Given the description of an element on the screen output the (x, y) to click on. 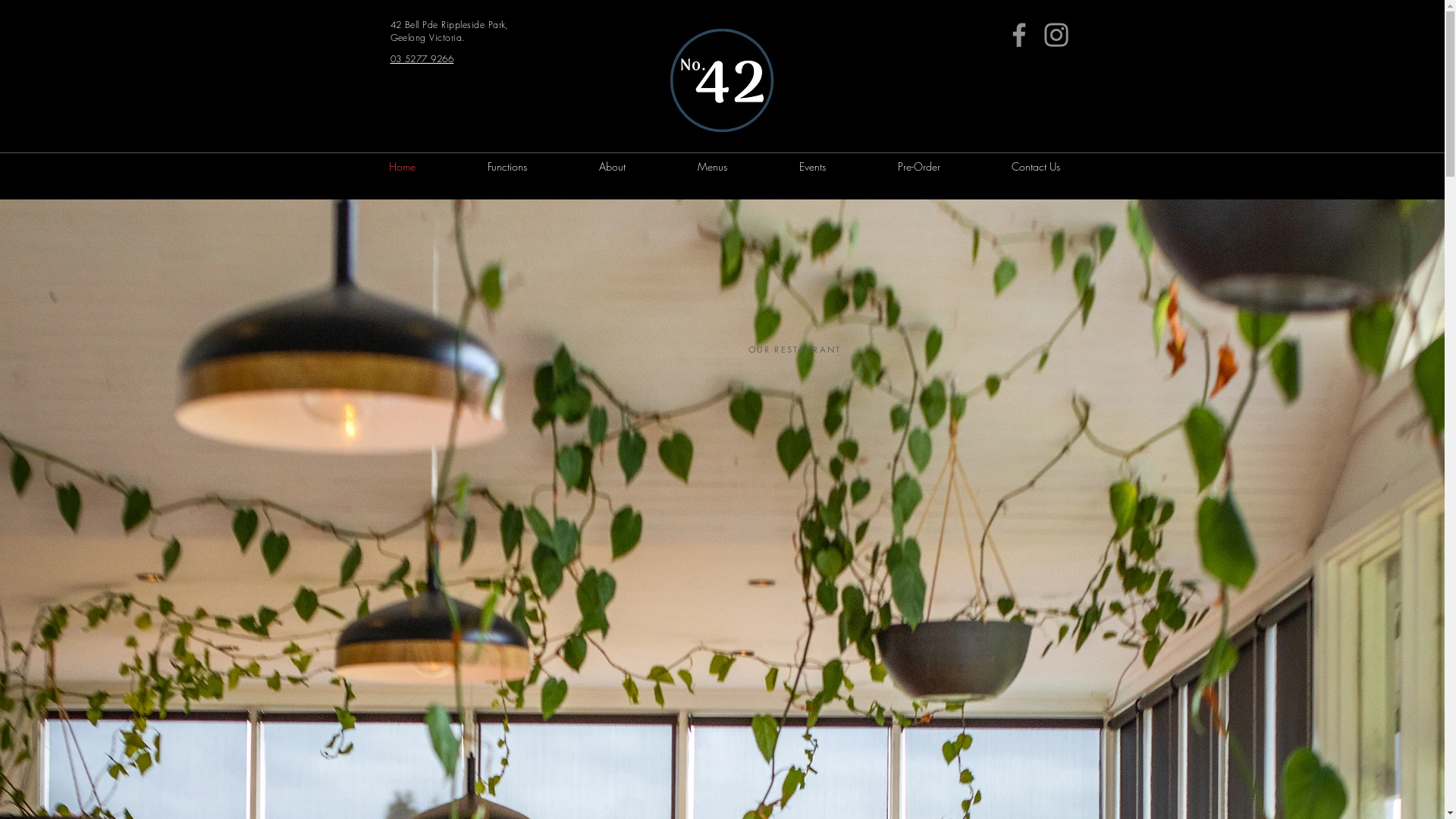
Pre-Order Element type: text (918, 166)
Contact Us Element type: text (1035, 166)
03 5277 9266 Element type: text (421, 58)
About Element type: text (611, 166)
Home Element type: text (402, 166)
Menus Element type: text (711, 166)
